Given the description of an element on the screen output the (x, y) to click on. 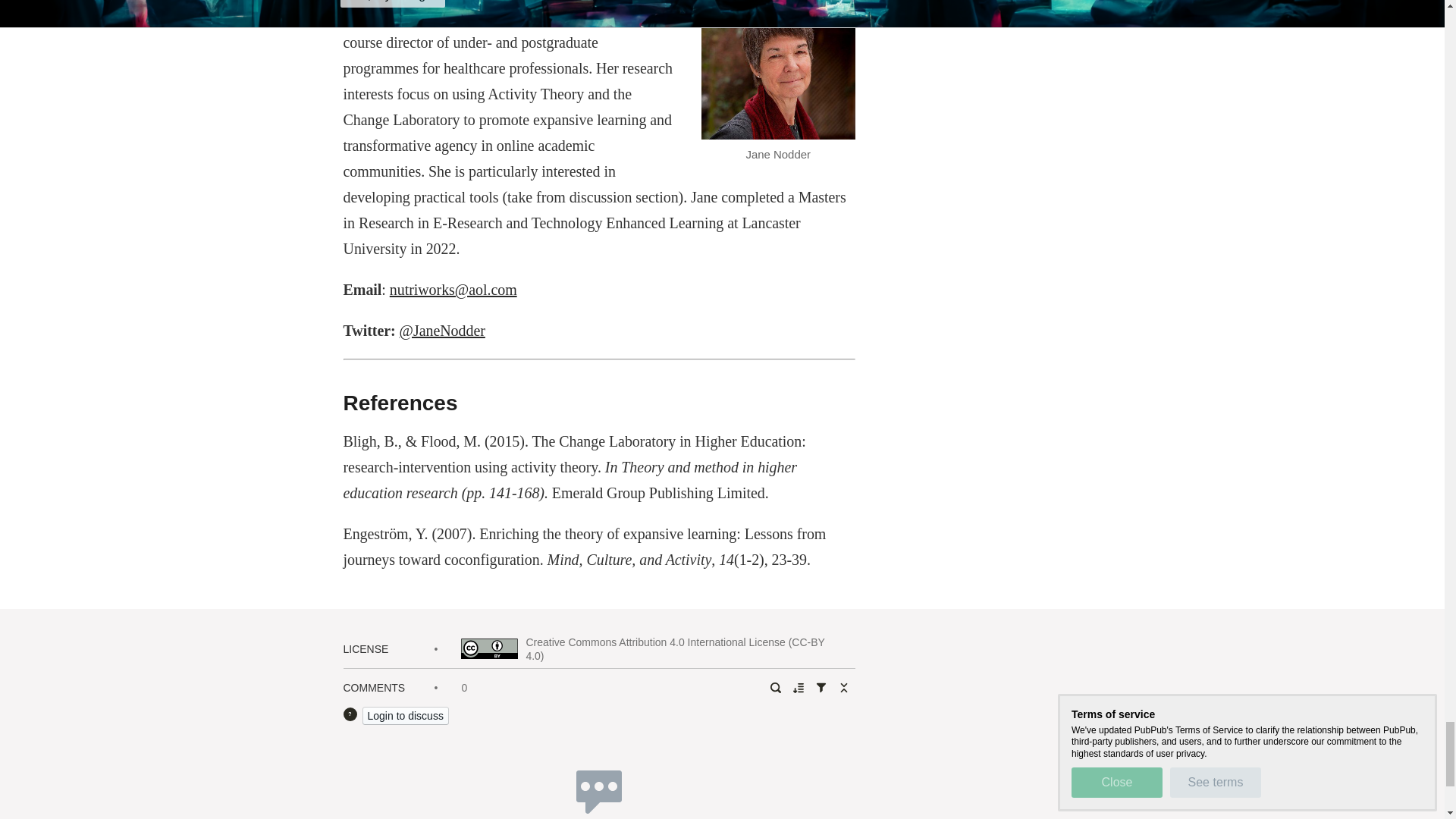
Login to discuss (405, 715)
